Given the description of an element on the screen output the (x, y) to click on. 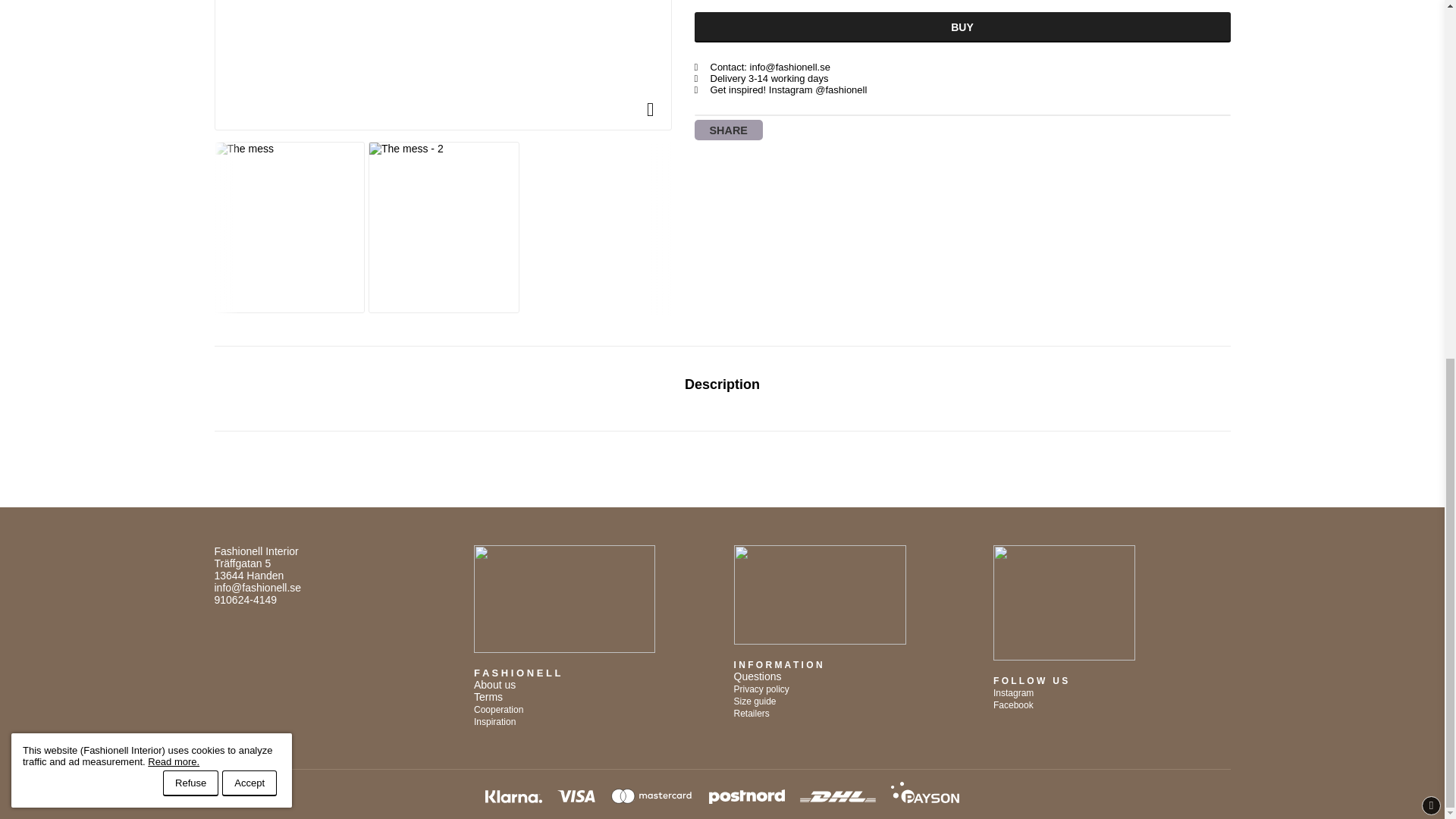
Accept (249, 148)
Refuse (190, 148)
